Given the description of an element on the screen output the (x, y) to click on. 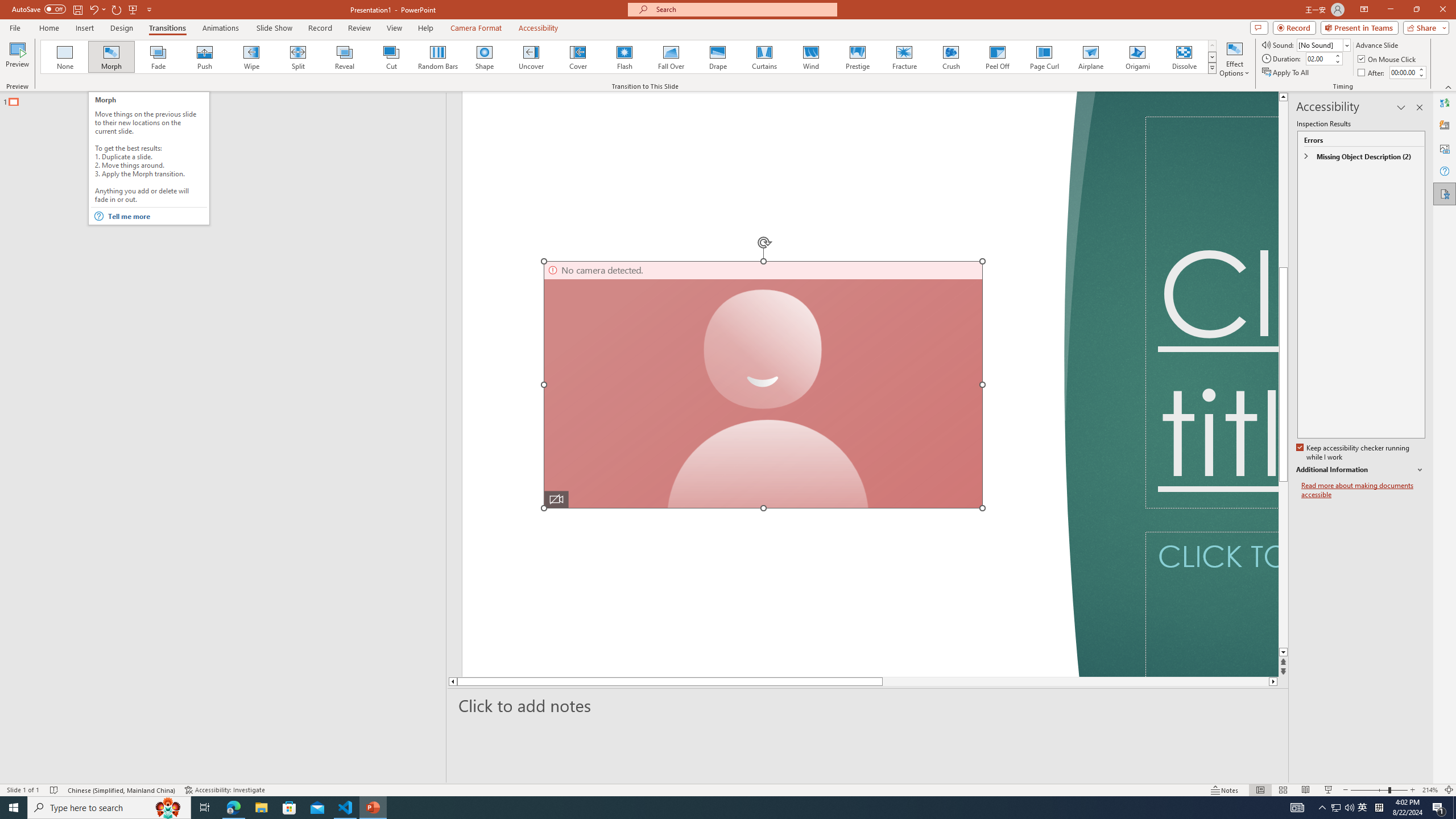
AutomationID: AnimationTransitionGallery (628, 56)
On Mouse Click (1387, 58)
Morph (111, 56)
